Given the description of an element on the screen output the (x, y) to click on. 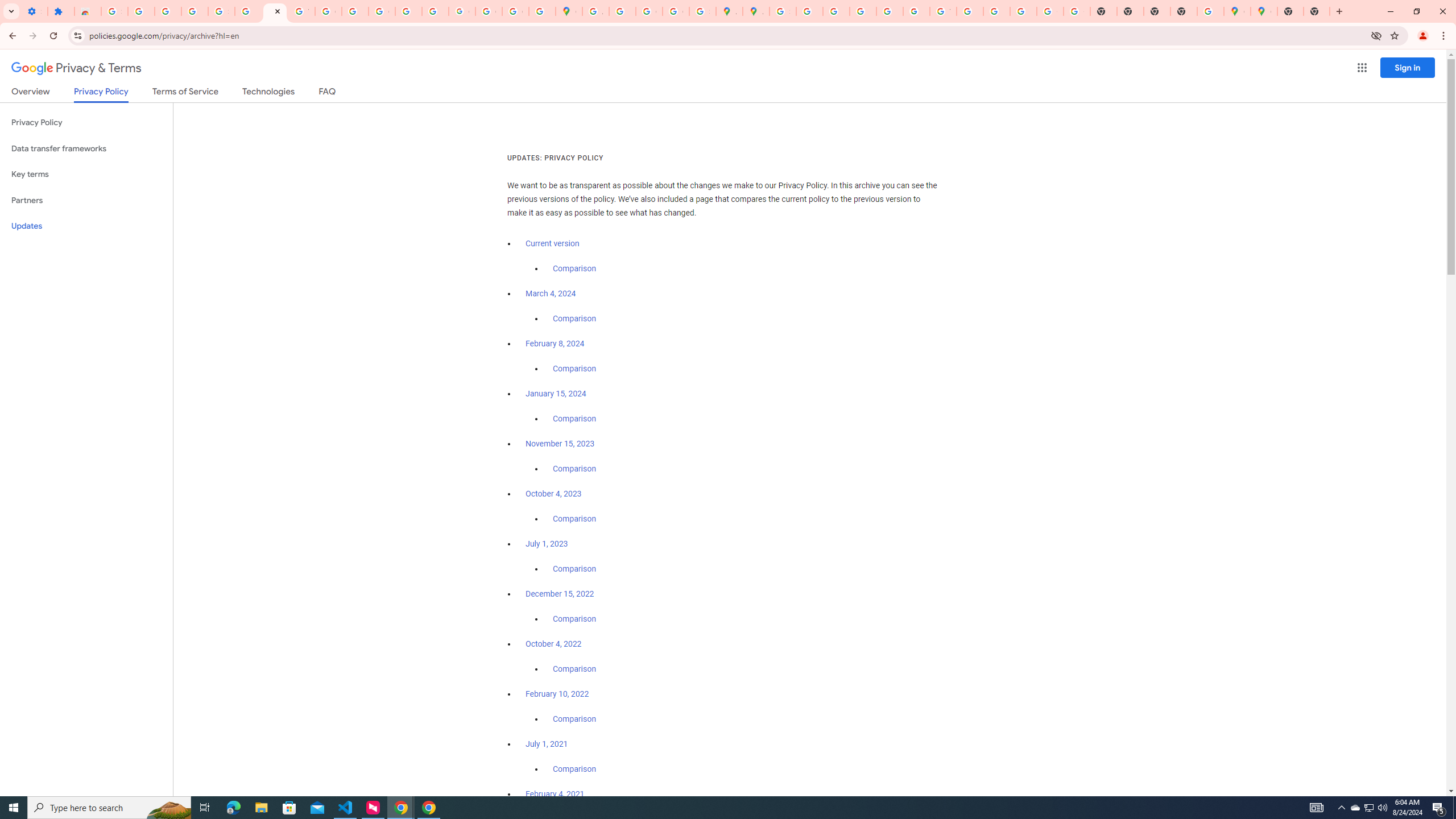
November 15, 2023 (560, 443)
October 4, 2023 (553, 493)
YouTube (943, 11)
